Given the description of an element on the screen output the (x, y) to click on. 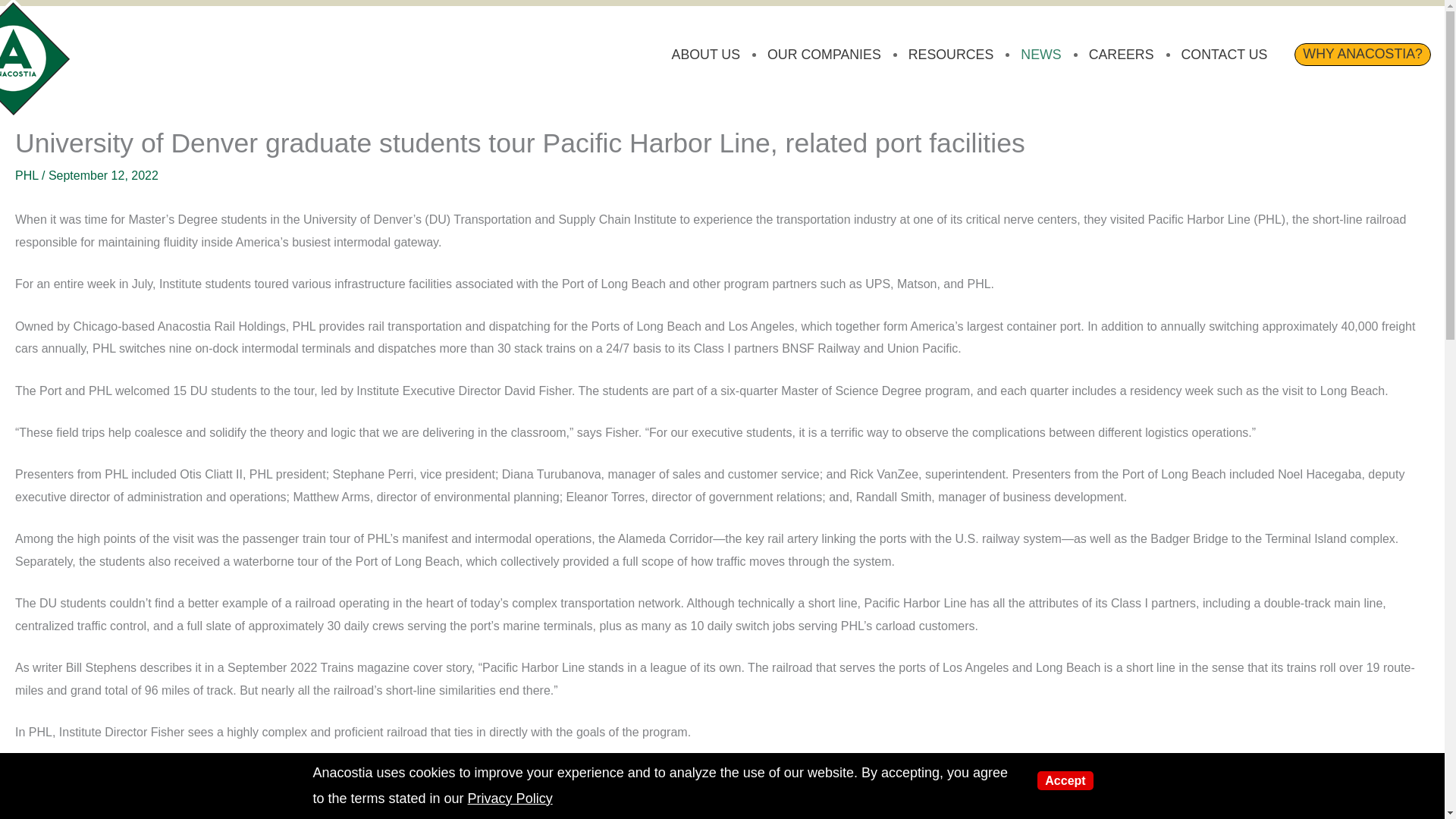
ABOUT US (706, 54)
RESOURCES (951, 54)
CONTACT US (1224, 54)
NEWS (1040, 54)
OUR COMPANIES (824, 54)
PHL (26, 174)
CAREERS (1121, 54)
